Given the description of an element on the screen output the (x, y) to click on. 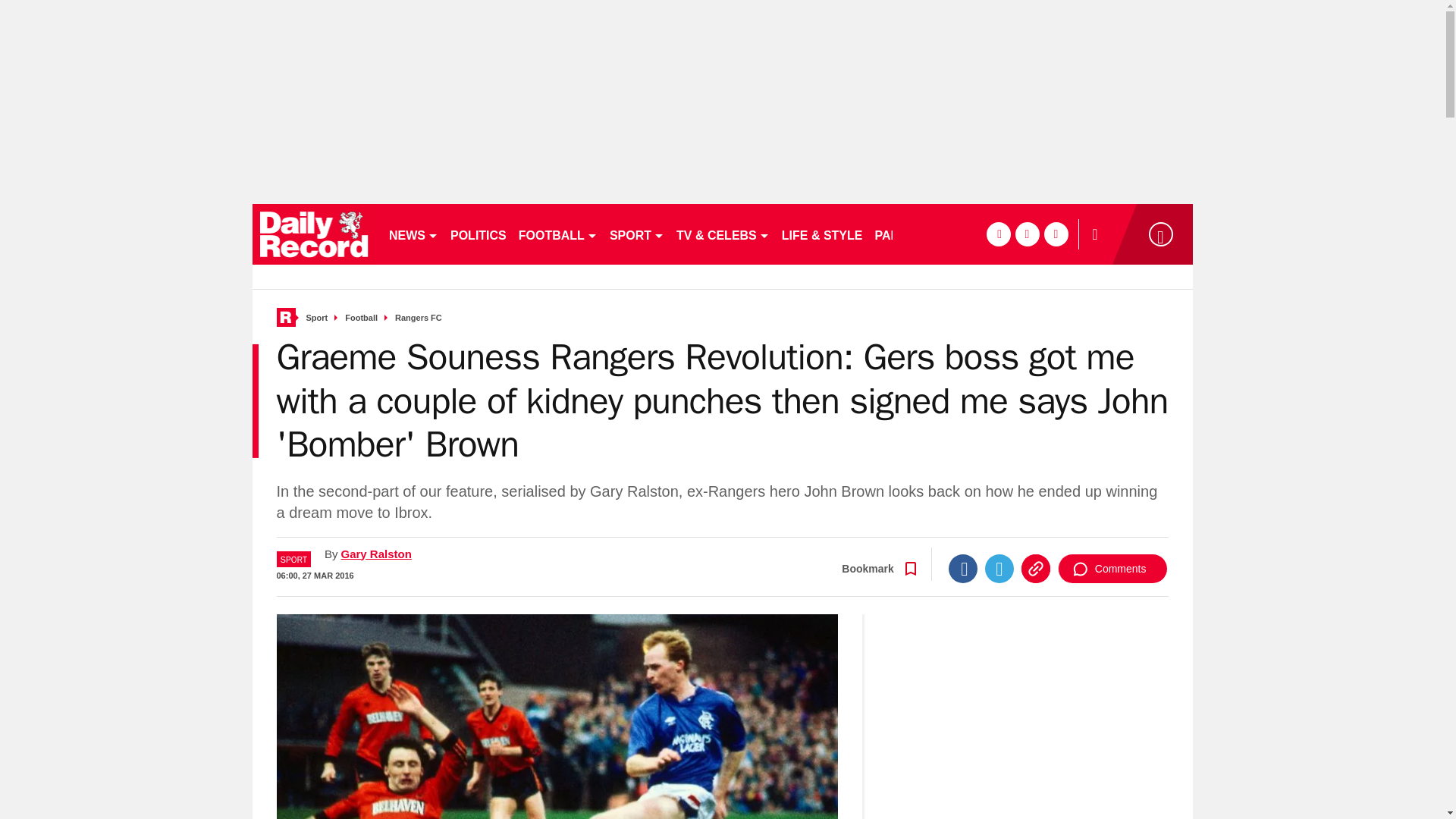
instagram (1055, 233)
dailyrecord (313, 233)
Twitter (999, 568)
NEWS (413, 233)
SPORT (636, 233)
facebook (997, 233)
twitter (1026, 233)
Comments (1112, 568)
FOOTBALL (558, 233)
POLITICS (478, 233)
